Given the description of an element on the screen output the (x, y) to click on. 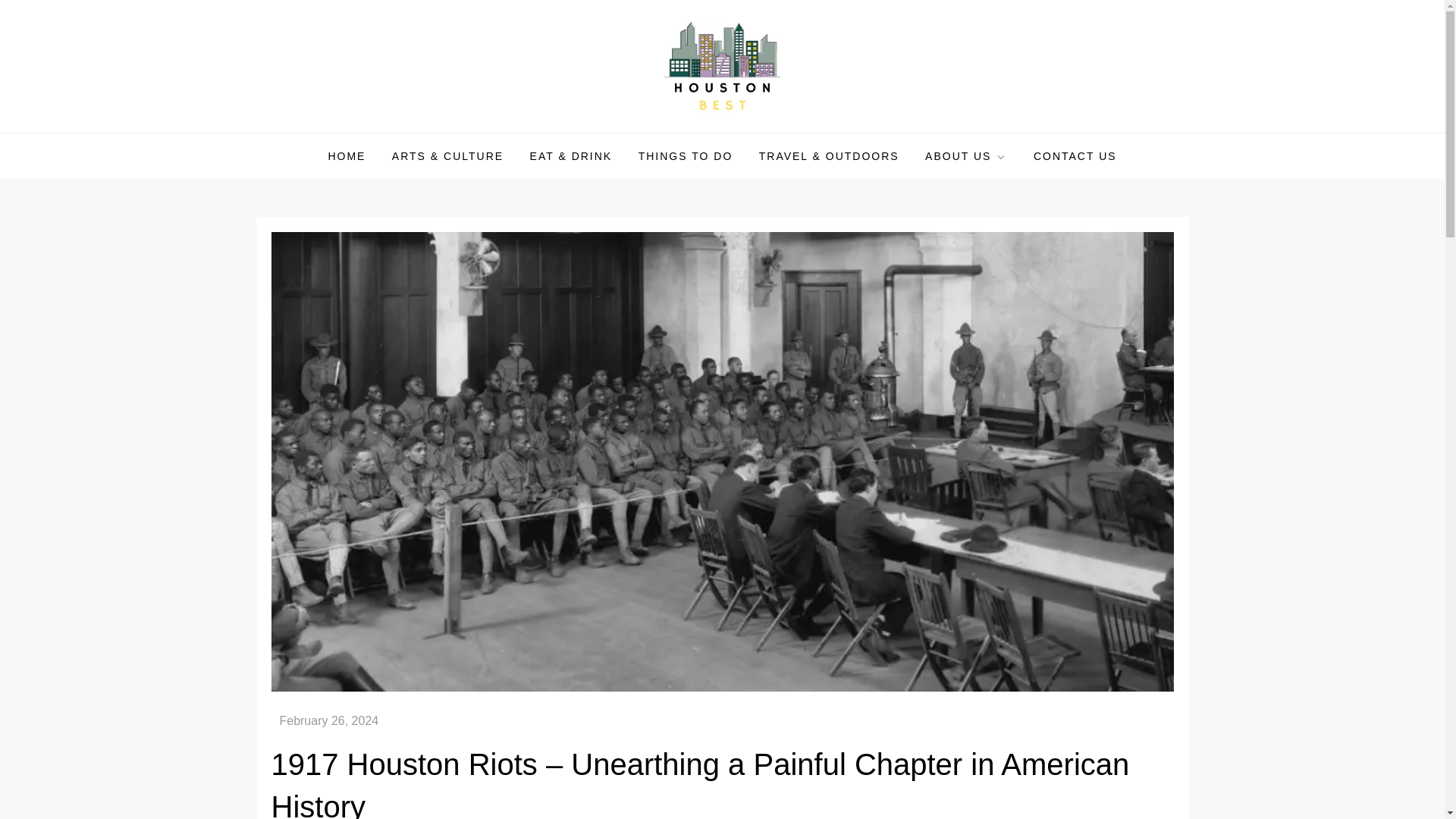
ABOUT US (965, 156)
HOME (346, 156)
February 26, 2024 (328, 720)
CONTACT US (1075, 156)
Houston Best (347, 131)
THINGS TO DO (685, 156)
